Given the description of an element on the screen output the (x, y) to click on. 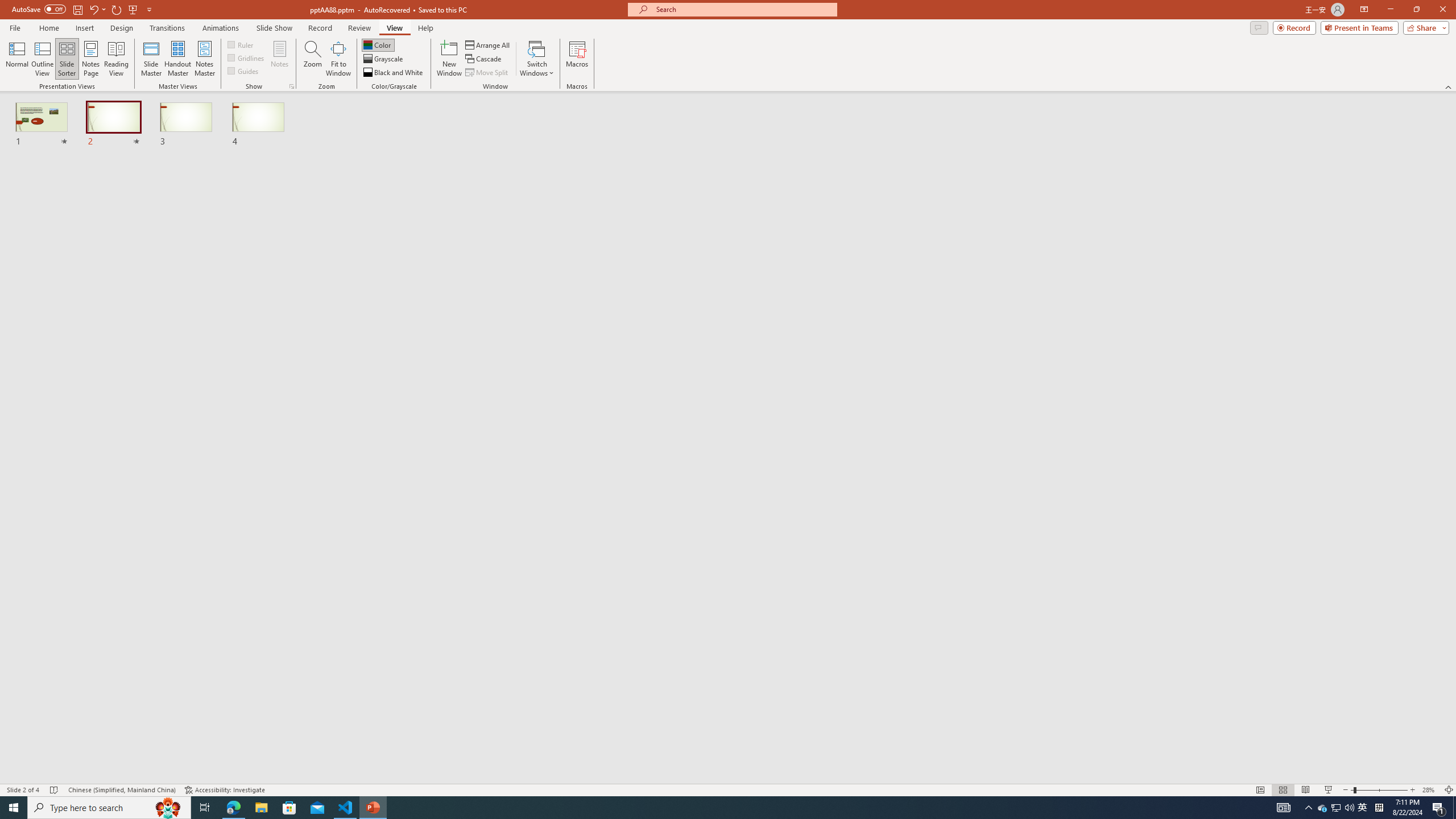
Cascade (484, 58)
Handout Master (177, 58)
